Given the description of an element on the screen output the (x, y) to click on. 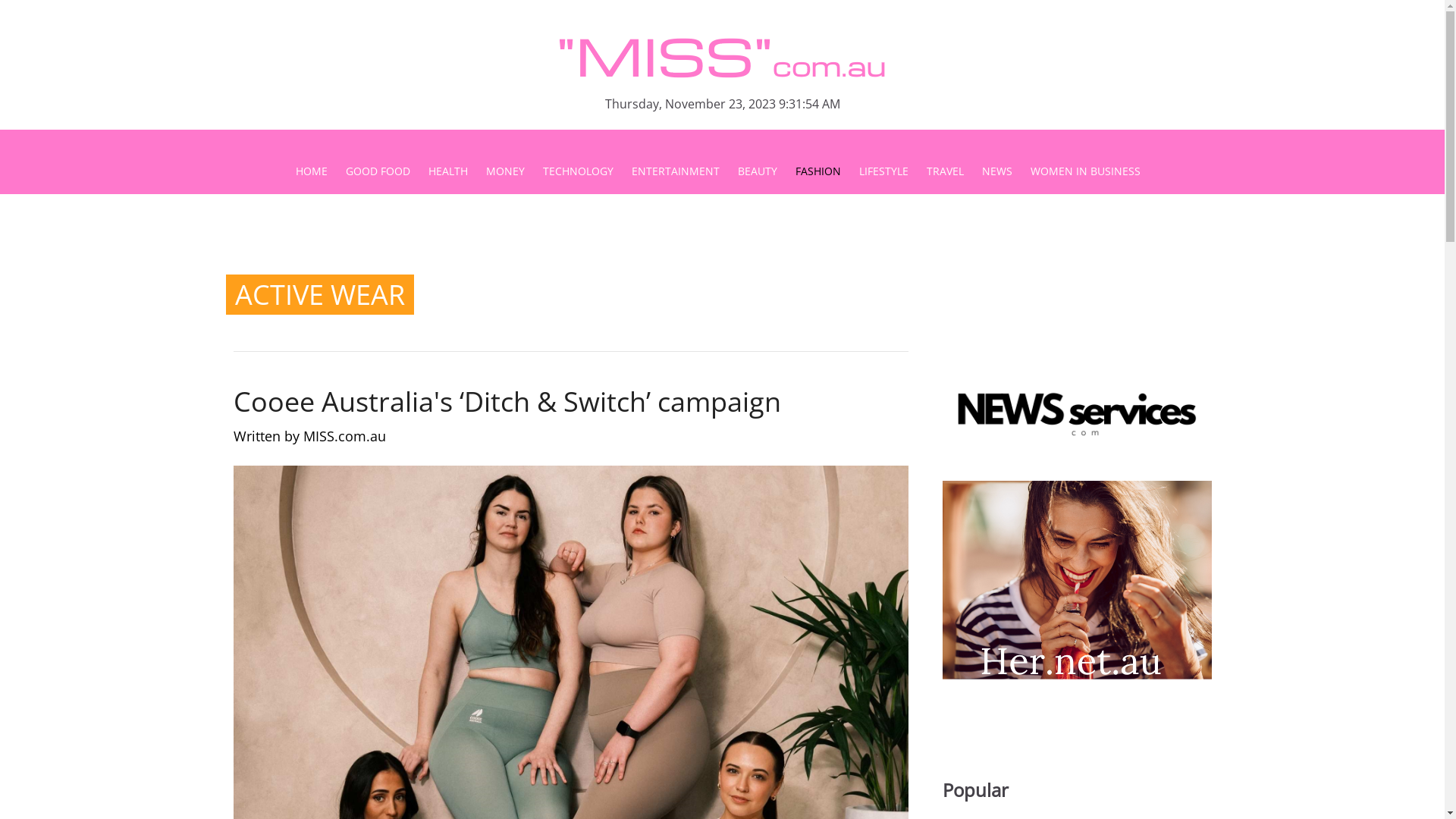
GOOD FOOD Element type: text (377, 171)
BEAUTY Element type: text (756, 171)
HEALTH Element type: text (447, 171)
WOMEN IN BUSINESS Element type: text (1084, 171)
ENTERTAINMENT Element type: text (674, 171)
FASHION Element type: text (817, 171)
TECHNOLOGY Element type: text (577, 171)
TRAVEL Element type: text (944, 171)
LIFESTYLE Element type: text (882, 171)
HOME Element type: text (315, 171)
NEWS Element type: text (996, 171)
MONEY Element type: text (504, 171)
